Given the description of an element on the screen output the (x, y) to click on. 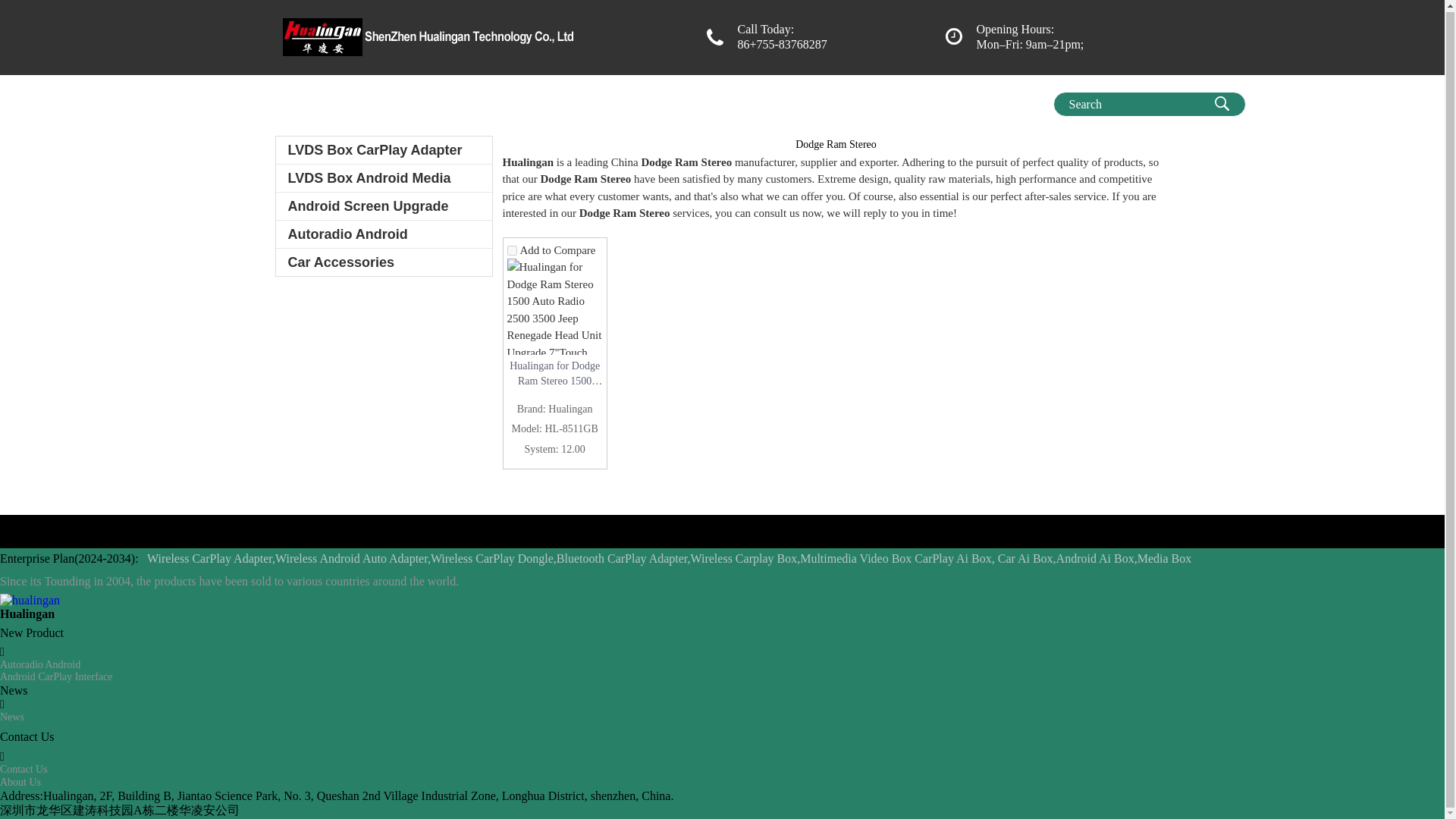
Multimedia Screen Upgrade (474, 101)
Products (368, 101)
LVDS Box CarPlay Adapter (384, 149)
AutoRadio Upgrade (874, 101)
Multimedia Video Box (613, 101)
LVDS Box Android Media (384, 177)
LVDS Box Android Media (384, 177)
LVDS Box CarPlay Adapter (384, 149)
on (511, 250)
Hualingan (307, 101)
Wireless CarPlay Adapter (747, 101)
